Given the description of an element on the screen output the (x, y) to click on. 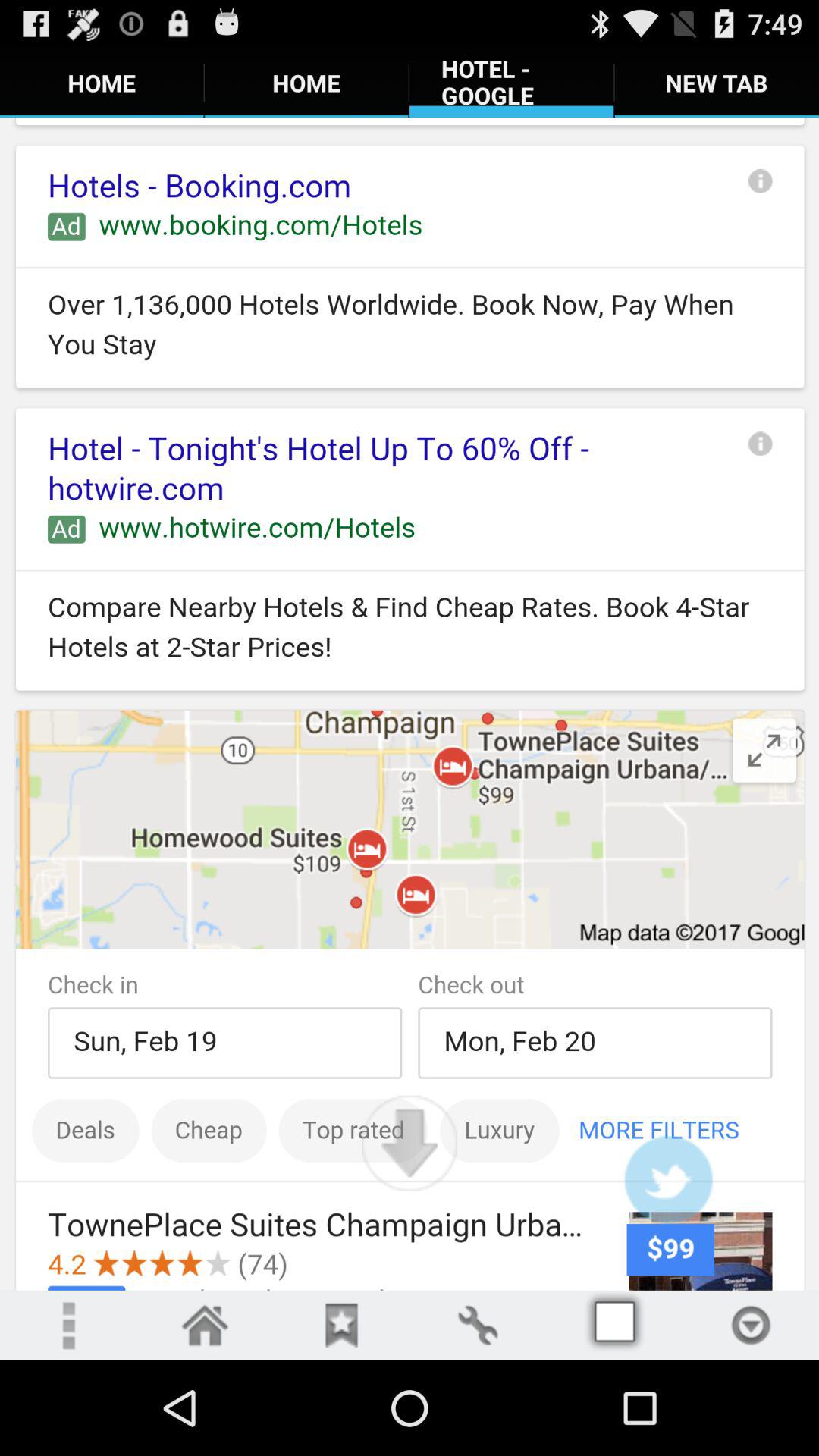
settings switch option (477, 1325)
